Given the description of an element on the screen output the (x, y) to click on. 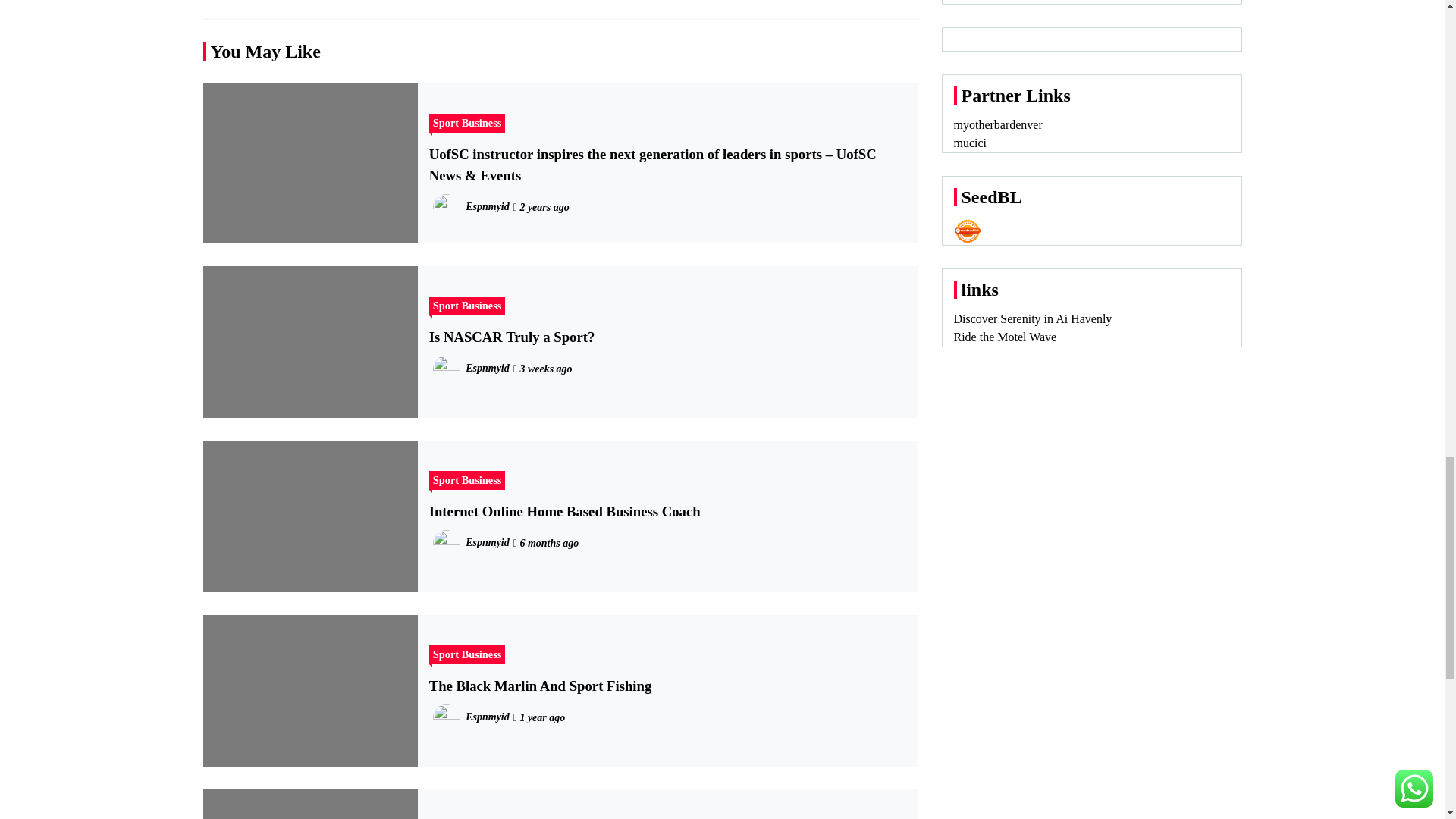
Seedbacklink (967, 230)
